Given the description of an element on the screen output the (x, y) to click on. 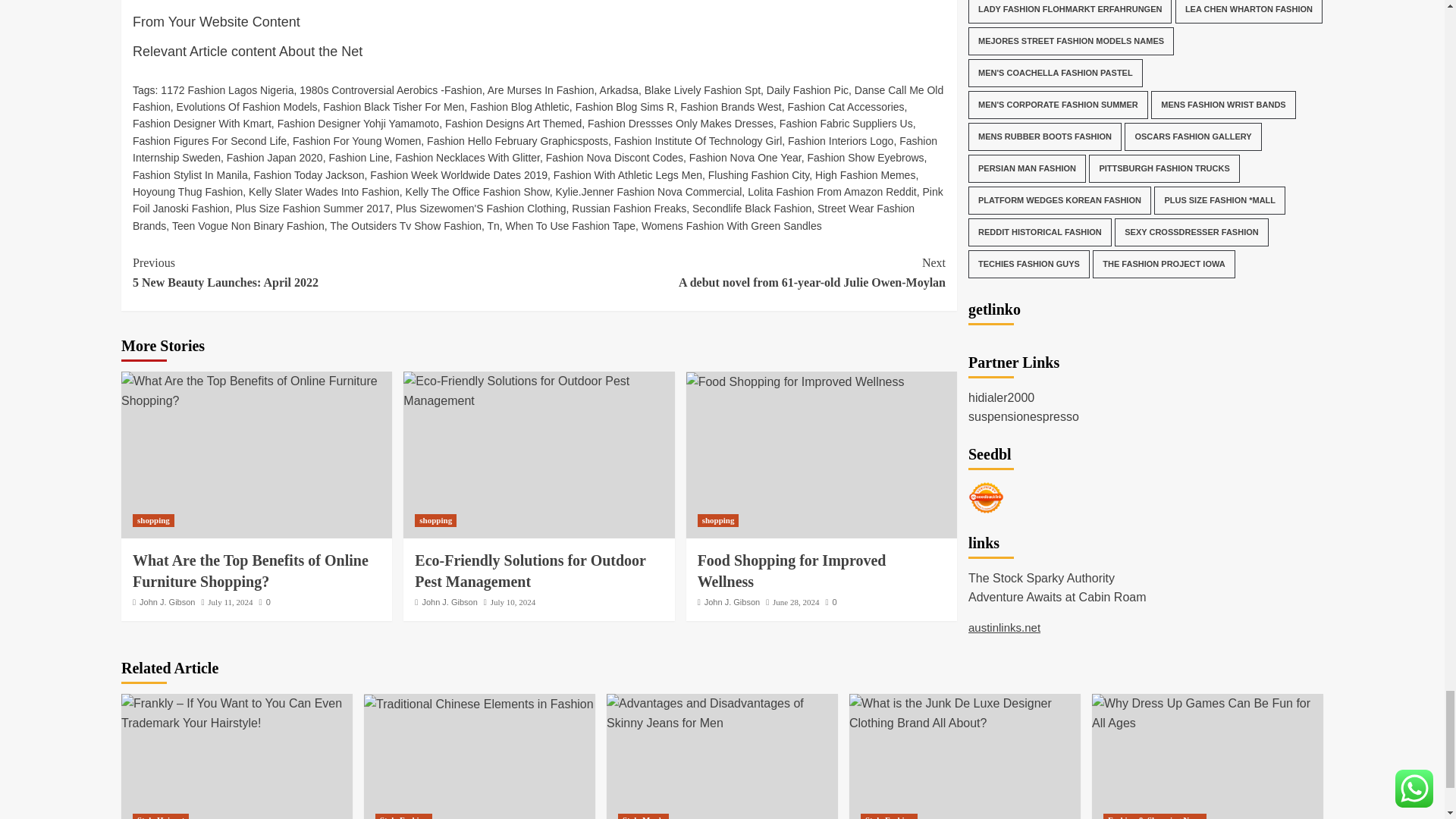
Fashion Black Tisher For Men (393, 106)
1980s Controversial Aerobics -Fashion (390, 90)
Arkadsa (619, 90)
Eco-Friendly Solutions for Outdoor Pest Management (538, 390)
1172 Fashion Lagos Nigeria (227, 90)
Food Shopping for Improved Wellness (794, 382)
Danse Call Me Old Fashion (537, 98)
Blake Lively Fashion Spt (702, 90)
Daily Fashion Pic (807, 90)
What Are the Top Benefits of Online Furniture Shopping? (255, 390)
Evolutions Of Fashion Models (246, 106)
Are Murses In Fashion (540, 90)
